Given the description of an element on the screen output the (x, y) to click on. 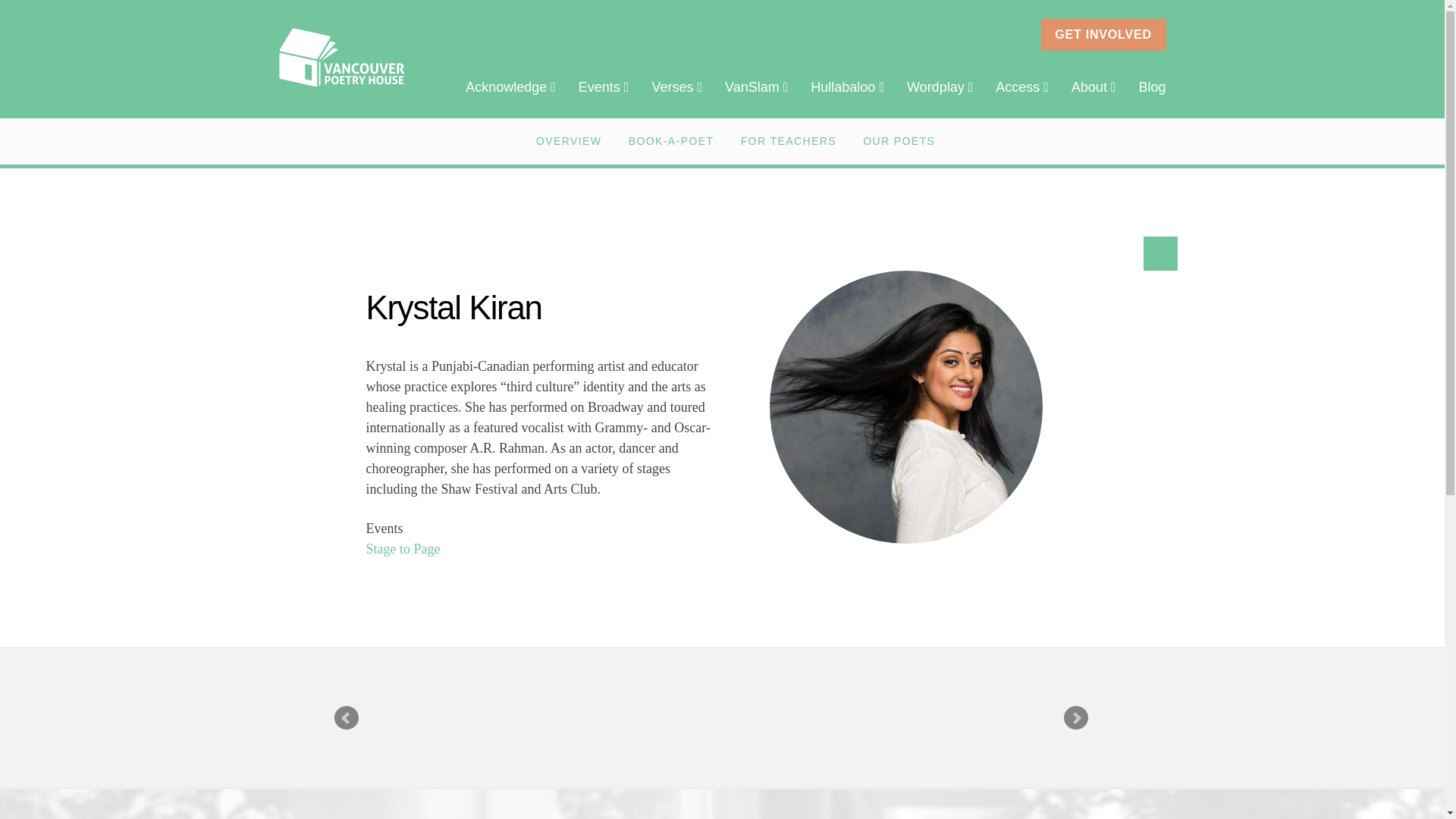
GET INVOLVED (1103, 34)
